Given the description of an element on the screen output the (x, y) to click on. 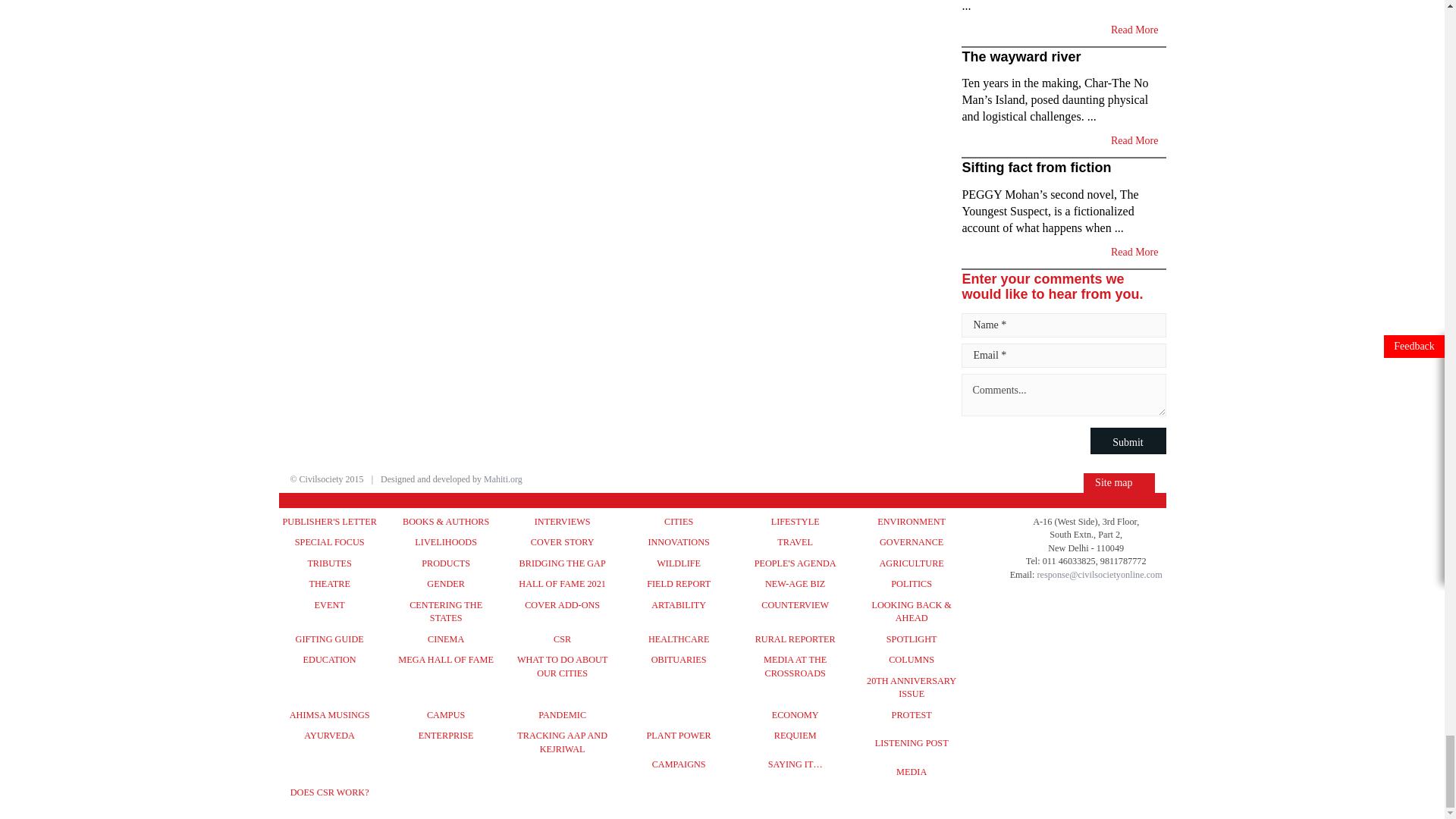
Submit (1128, 440)
